Given the description of an element on the screen output the (x, y) to click on. 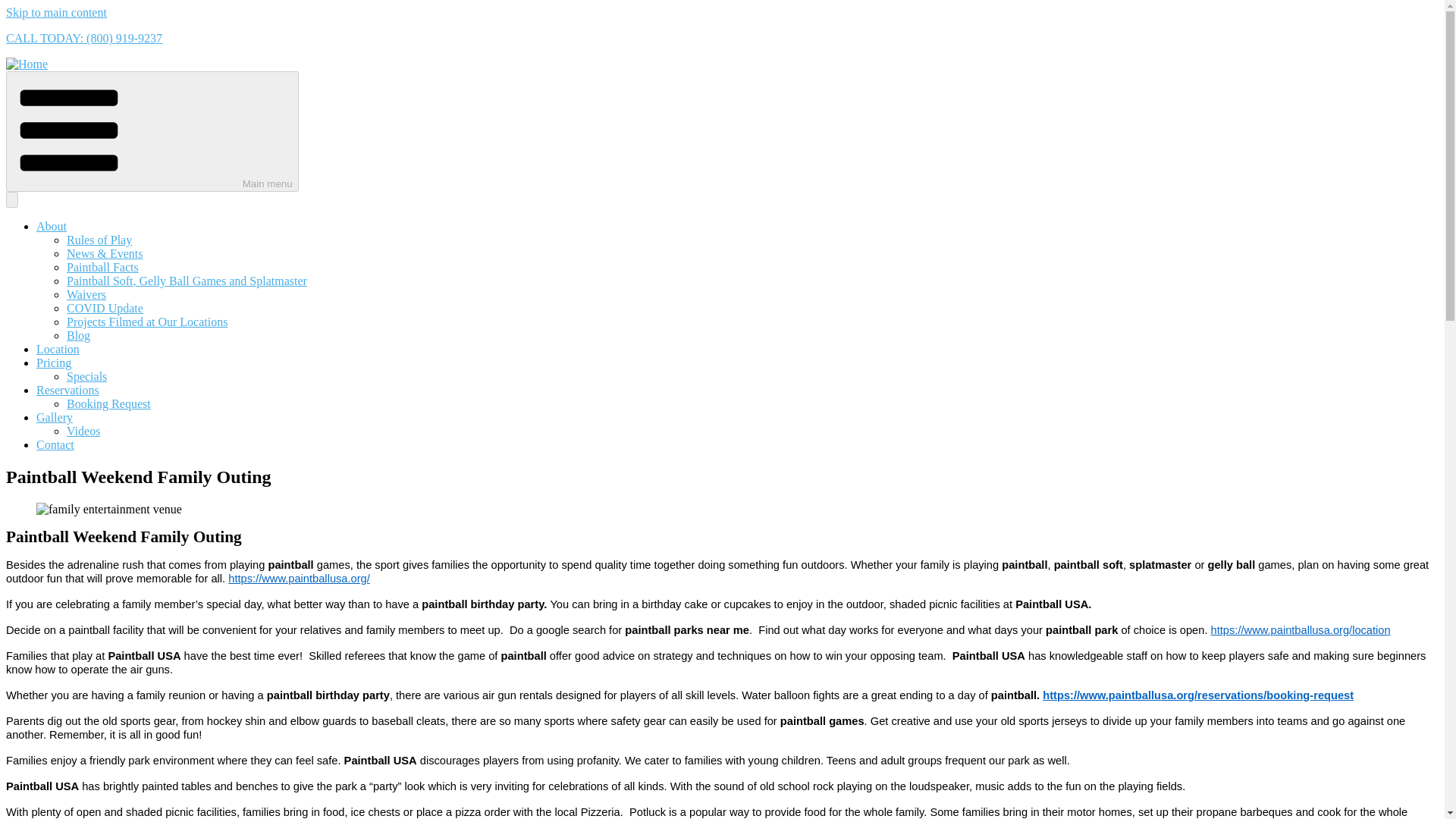
Videos (83, 431)
Pricing (53, 362)
Specials (86, 376)
Gallery (54, 417)
Booking Request (108, 403)
Home (26, 63)
Reservations (67, 390)
Paintball Soft, Gelly Ball Games and Splatmaster (186, 280)
Main menu (151, 131)
Paintball Facts (102, 267)
COVID Update (104, 308)
Skip to main content (55, 11)
Waivers (86, 294)
Contact (55, 444)
Location (58, 349)
